Given the description of an element on the screen output the (x, y) to click on. 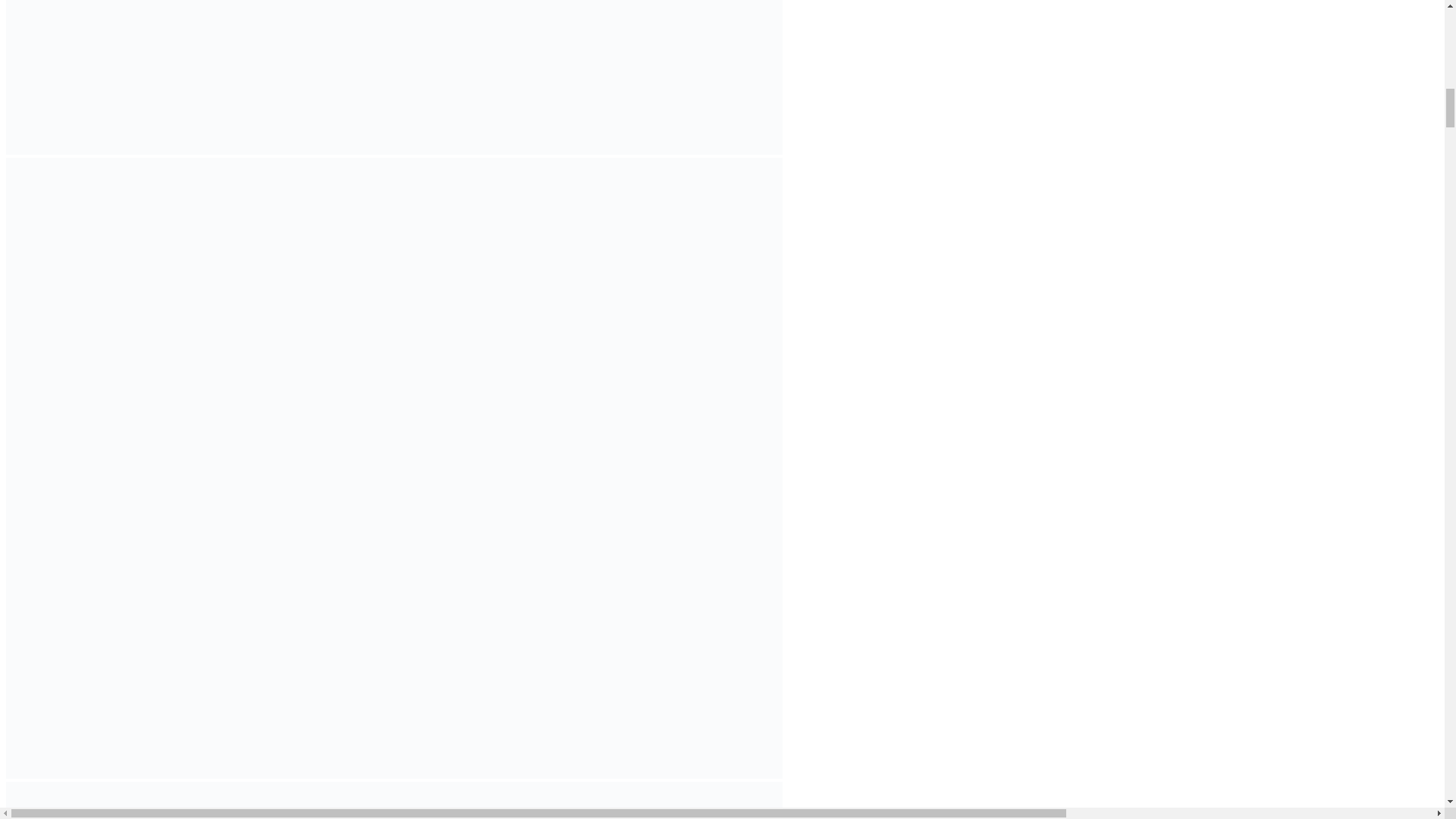
Packaging Design: Malavi Perfume (394, 77)
Packaging Design: Malavi Perfume (394, 800)
